Given the description of an element on the screen output the (x, y) to click on. 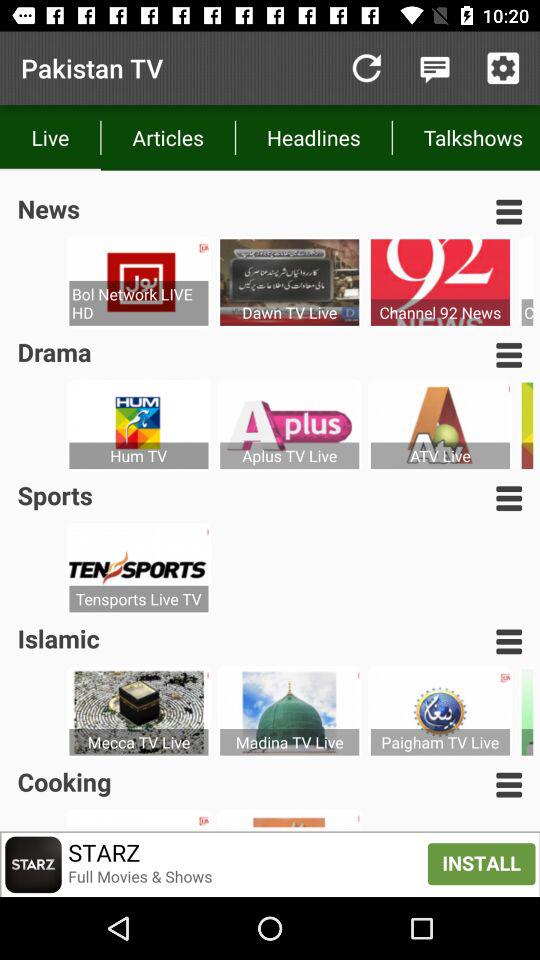
settings option (503, 67)
